Given the description of an element on the screen output the (x, y) to click on. 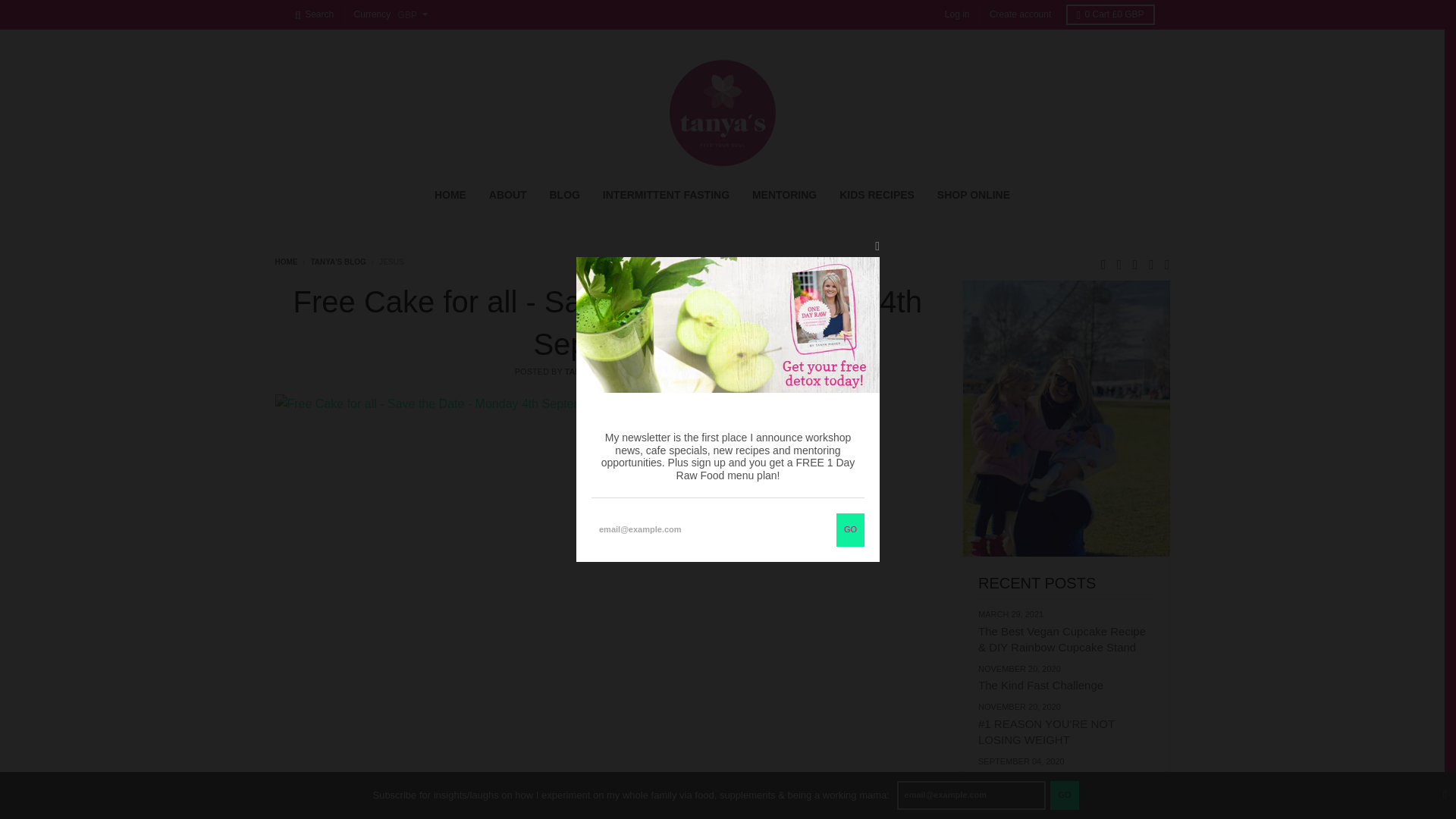
Tanya's on Twitter (1103, 263)
SHOP ONLINE (973, 194)
Tanya's on Pinterest (1151, 263)
Tanya's on Youtube (1167, 263)
Log in (957, 14)
INTERMITTENT FASTING (665, 194)
GO (1063, 795)
Back to the frontpage (286, 261)
MENTORING (784, 194)
ABOUT (508, 194)
Tanya's on Facebook (1119, 263)
KIDS RECIPES (876, 194)
HOME (450, 194)
Search (313, 14)
Tanya's on Instagram (1135, 263)
